Given the description of an element on the screen output the (x, y) to click on. 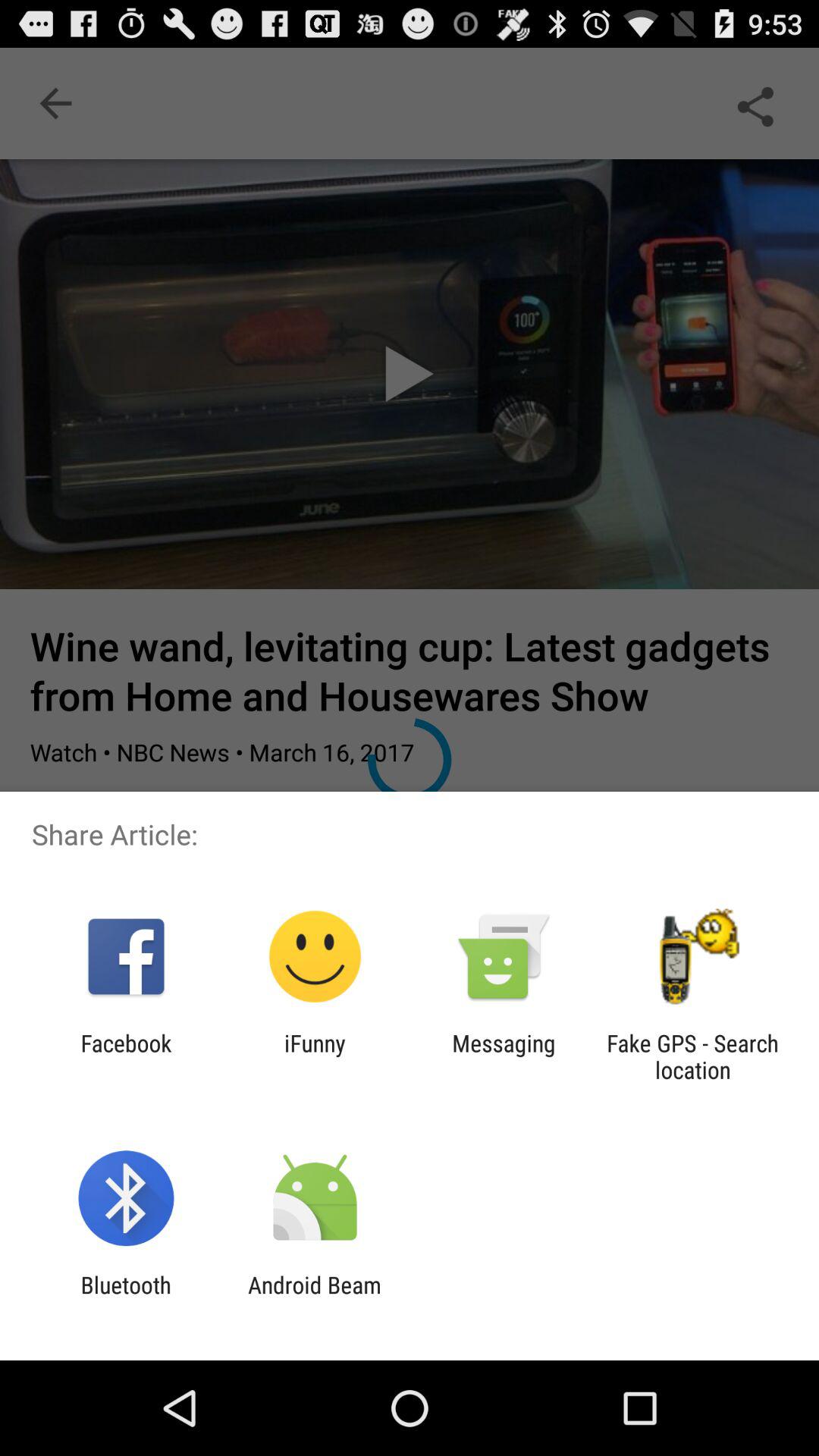
select the item next to bluetooth icon (314, 1298)
